Given the description of an element on the screen output the (x, y) to click on. 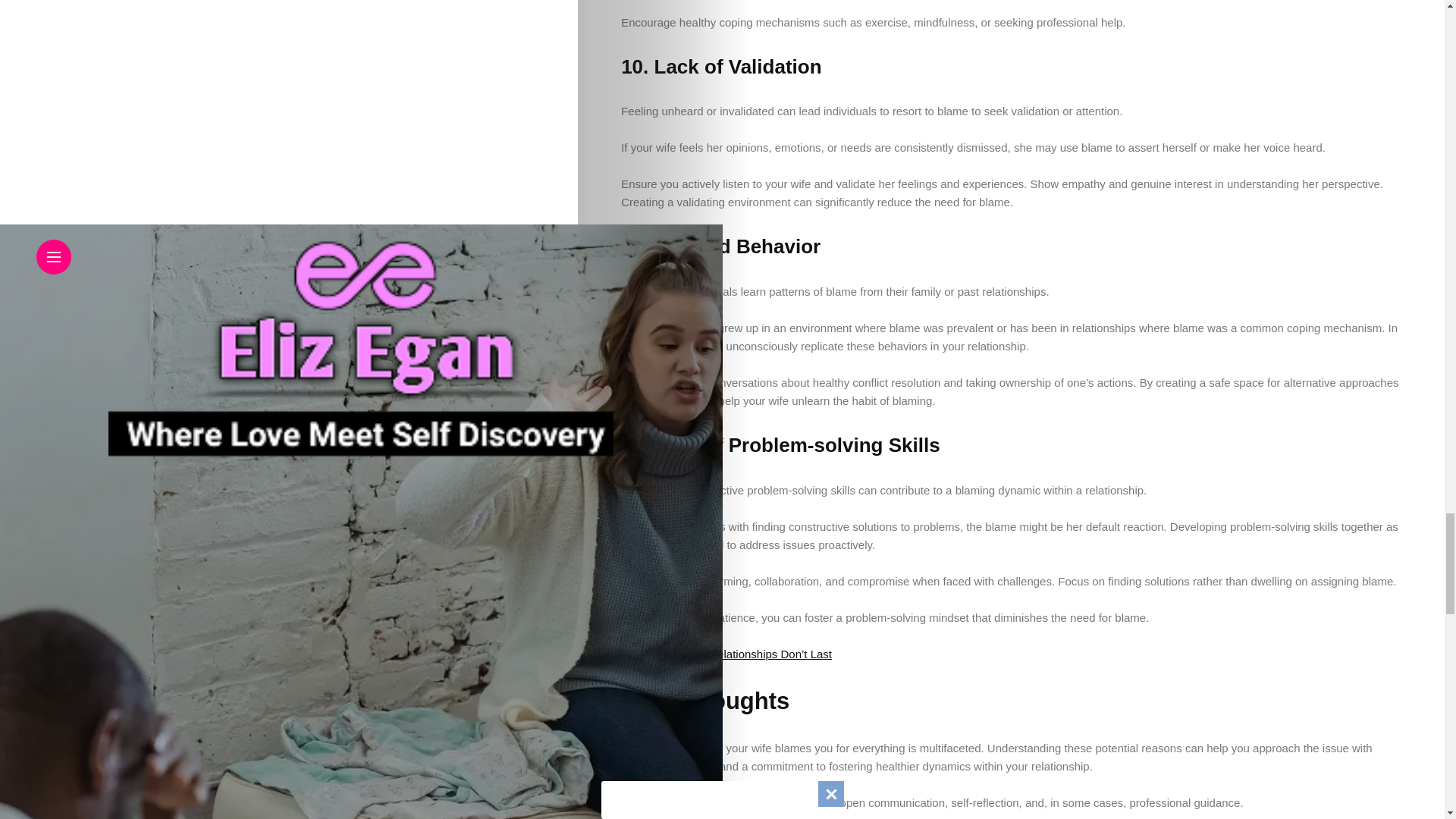
empathy, (643, 766)
